Given the description of an element on the screen output the (x, y) to click on. 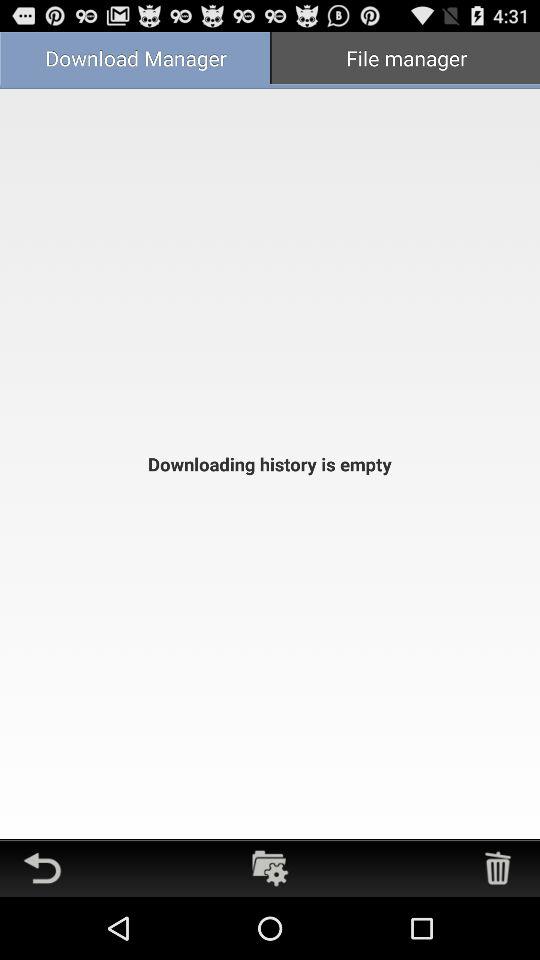
save file (269, 868)
